Given the description of an element on the screen output the (x, y) to click on. 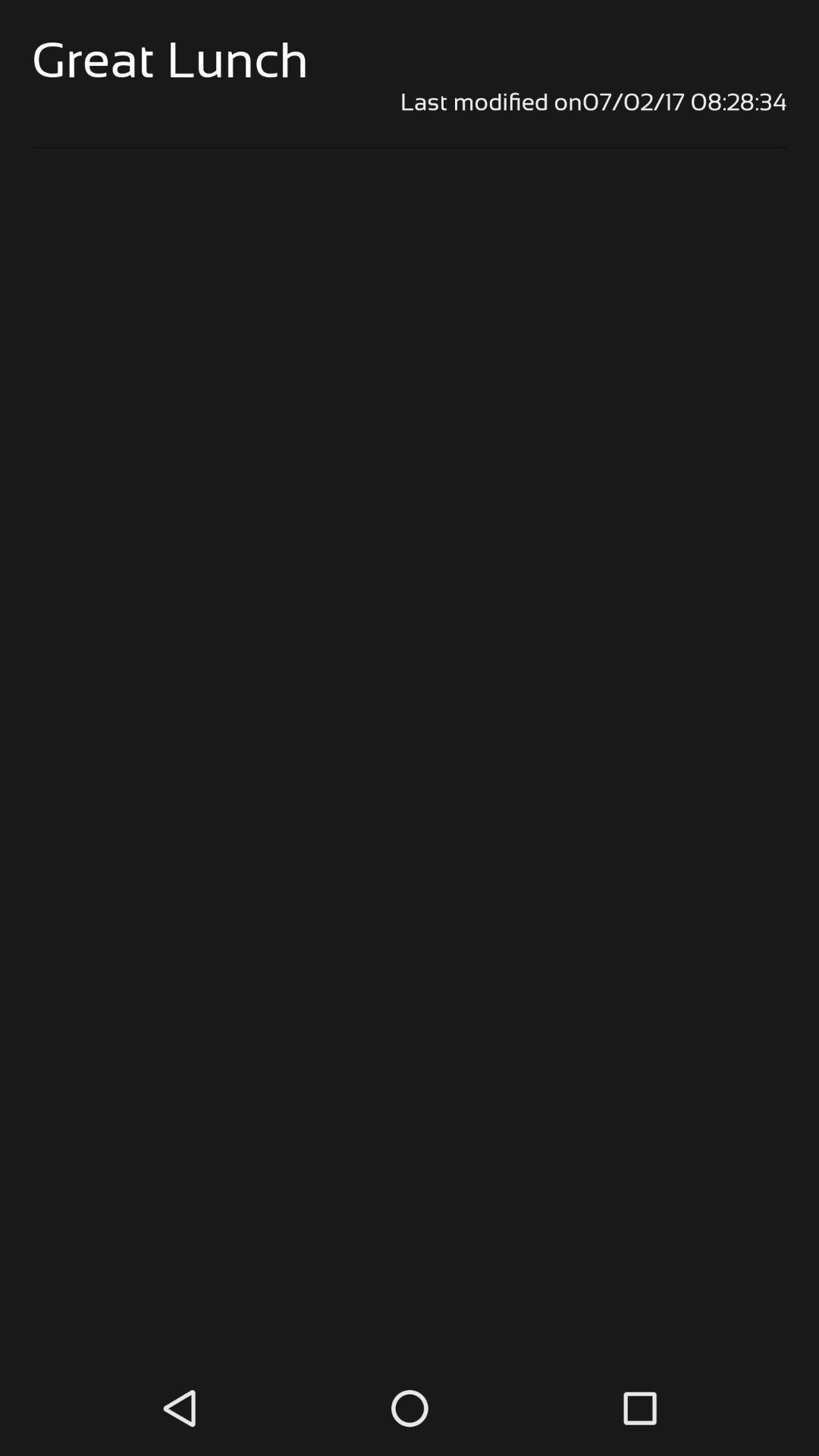
choose the last modified on07 item (409, 101)
